Given the description of an element on the screen output the (x, y) to click on. 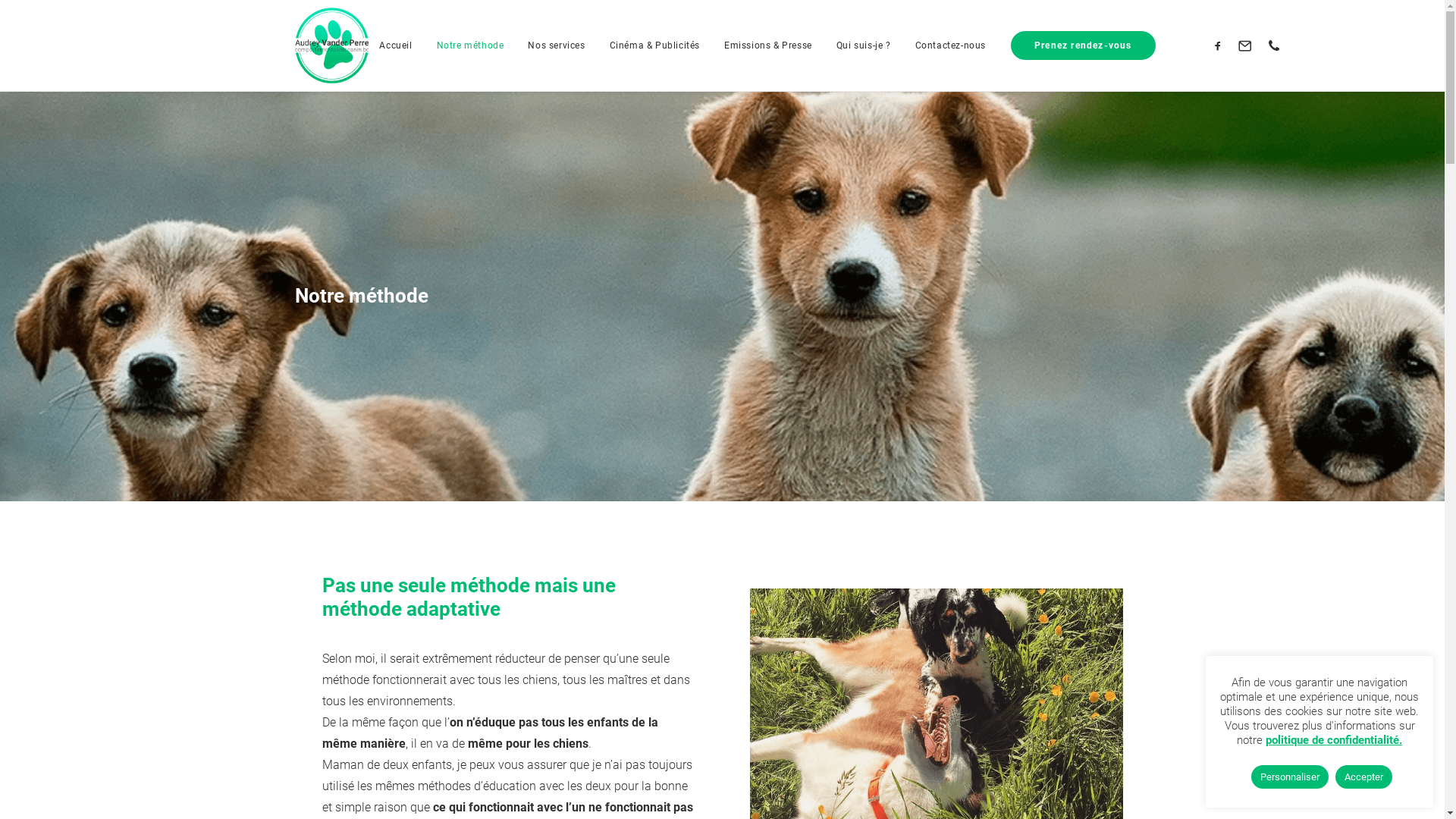
Emissions & Presse Element type: text (767, 45)
Accueil Element type: text (395, 45)
Accepter Element type: text (1362, 776)
Personnaliser Element type: text (1289, 776)
Nos services Element type: text (556, 45)
Prenez rendez-vous Element type: text (1077, 45)
Contactez-nous Element type: text (950, 45)
Qui suis-je ? Element type: text (863, 45)
